Given the description of an element on the screen output the (x, y) to click on. 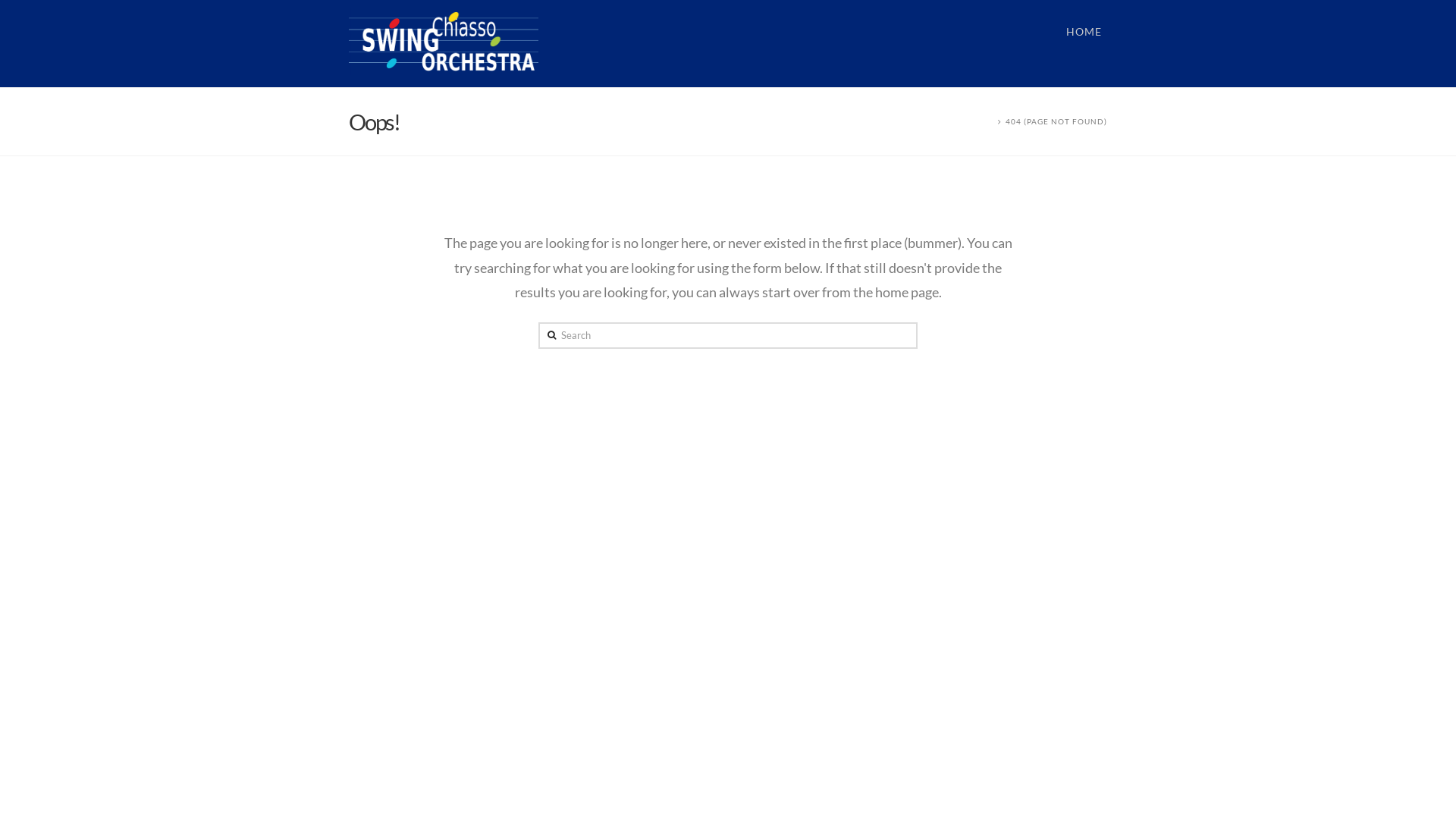
HOME Element type: text (1083, 43)
Chiasso Swing Orchestra Element type: hover (443, 41)
